Given the description of an element on the screen output the (x, y) to click on. 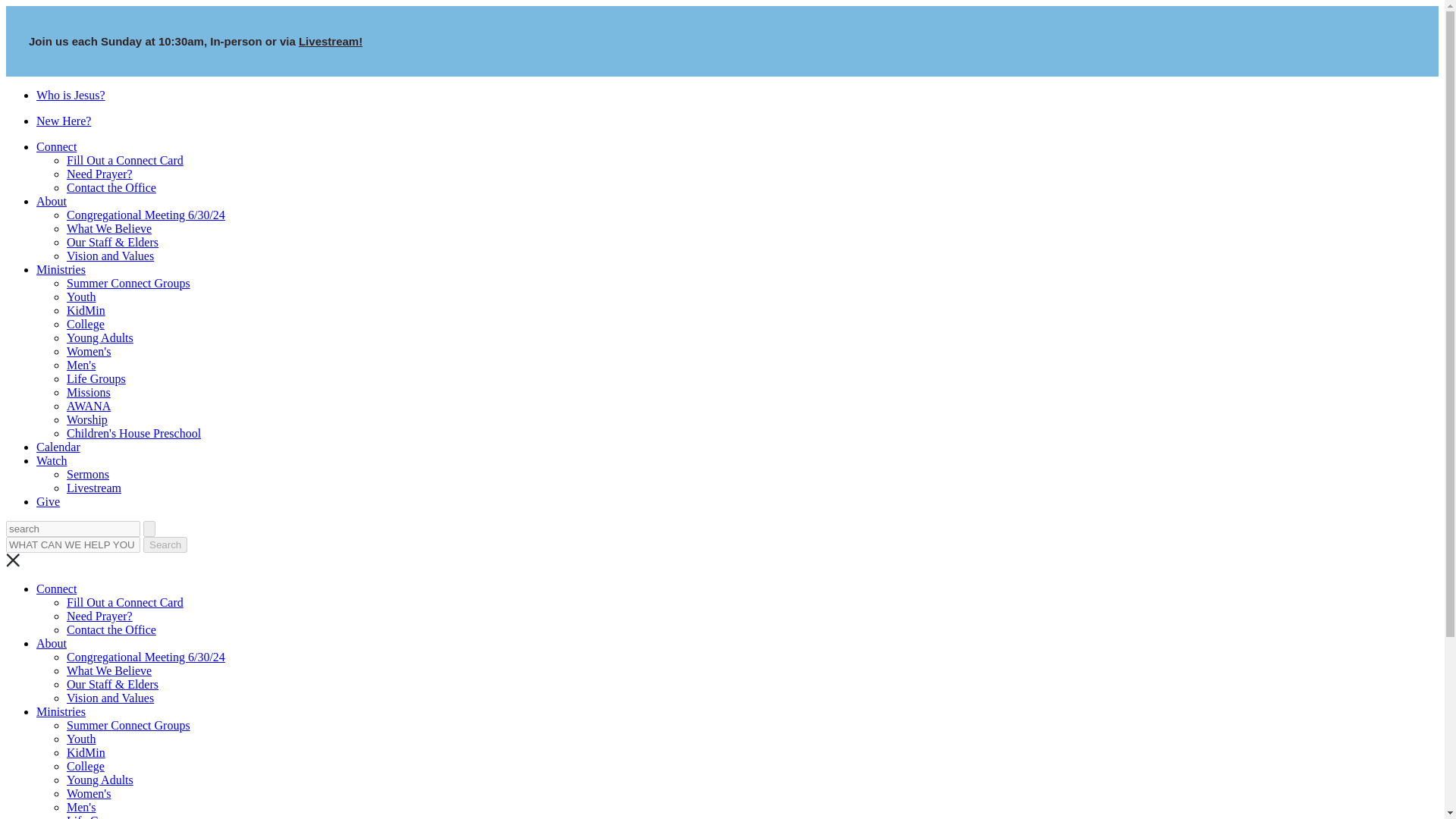
Search (164, 544)
Children's House Preschool (133, 432)
Men's (81, 364)
Contact the Office (110, 187)
Ministries (60, 269)
About (51, 201)
Fill Out a Connect Card (124, 160)
College (85, 323)
Fill Out a Connect Card (124, 602)
Life Groups (95, 378)
Calendar (58, 446)
Need Prayer? (99, 615)
Women's (88, 350)
Missions (88, 391)
KidMin (85, 309)
